Given the description of an element on the screen output the (x, y) to click on. 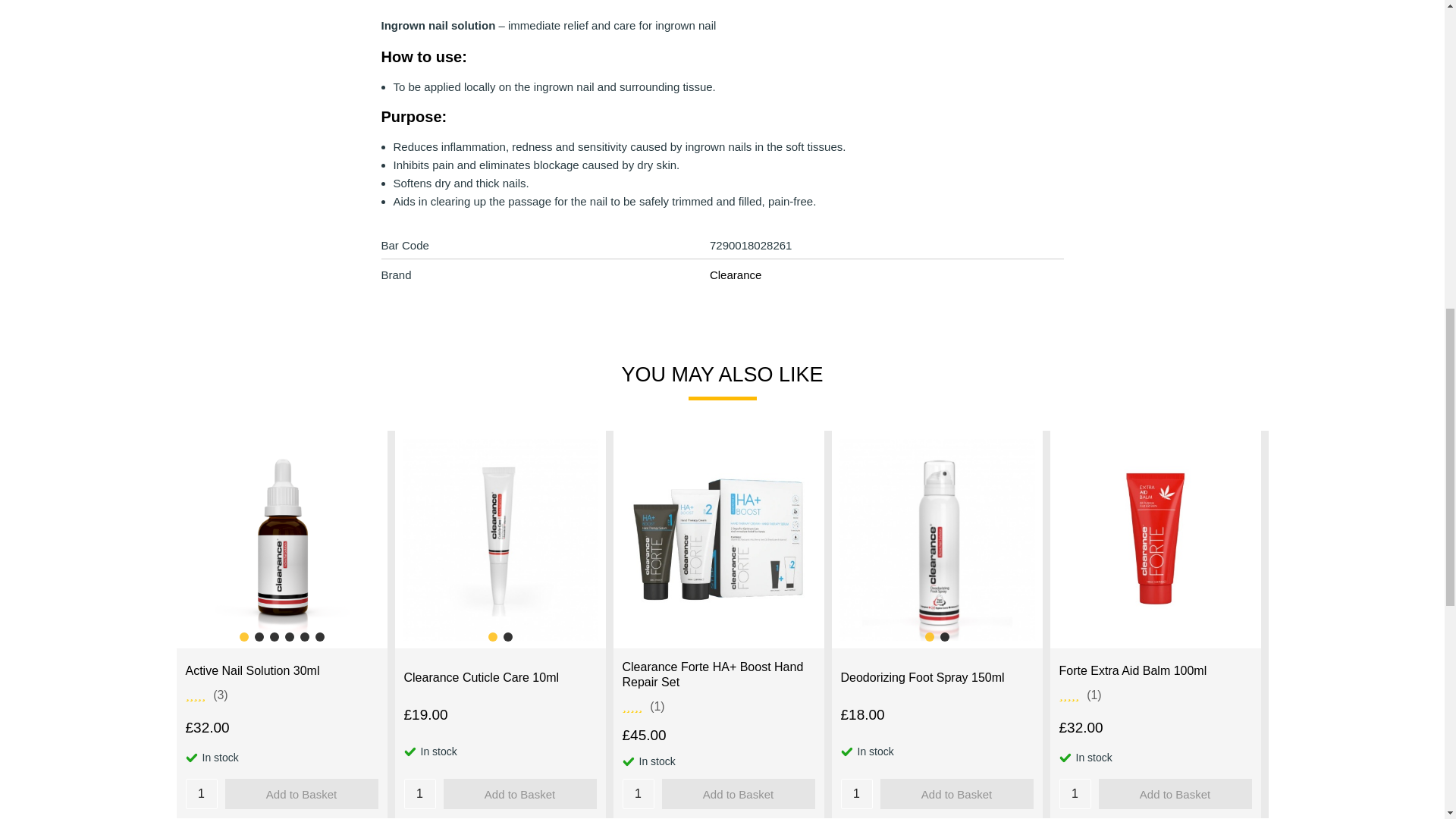
In stock (190, 757)
Deodorizing Foot Spray 150ml (922, 677)
Add to Basket (518, 793)
In stock (408, 751)
In stock (1064, 757)
Add to Basket (737, 793)
Clearance (735, 274)
Active Nail Solution 30ml (251, 670)
1 (637, 793)
In stock (627, 761)
